Given the description of an element on the screen output the (x, y) to click on. 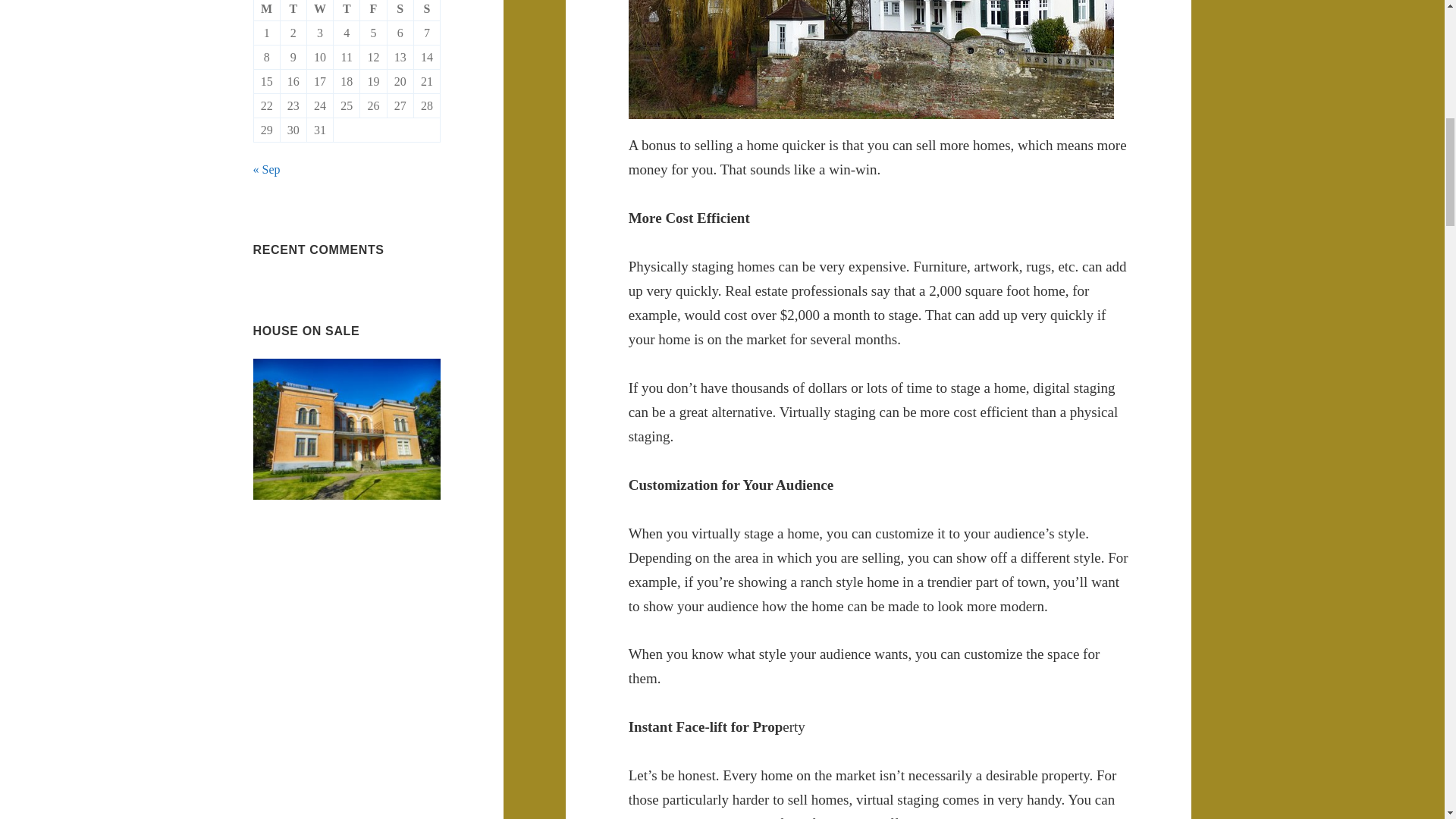
Tuesday (294, 10)
Monday (267, 10)
Thursday (346, 10)
Saturday (400, 10)
Friday (373, 10)
Wednesday (320, 10)
Sunday (427, 10)
